Given the description of an element on the screen output the (x, y) to click on. 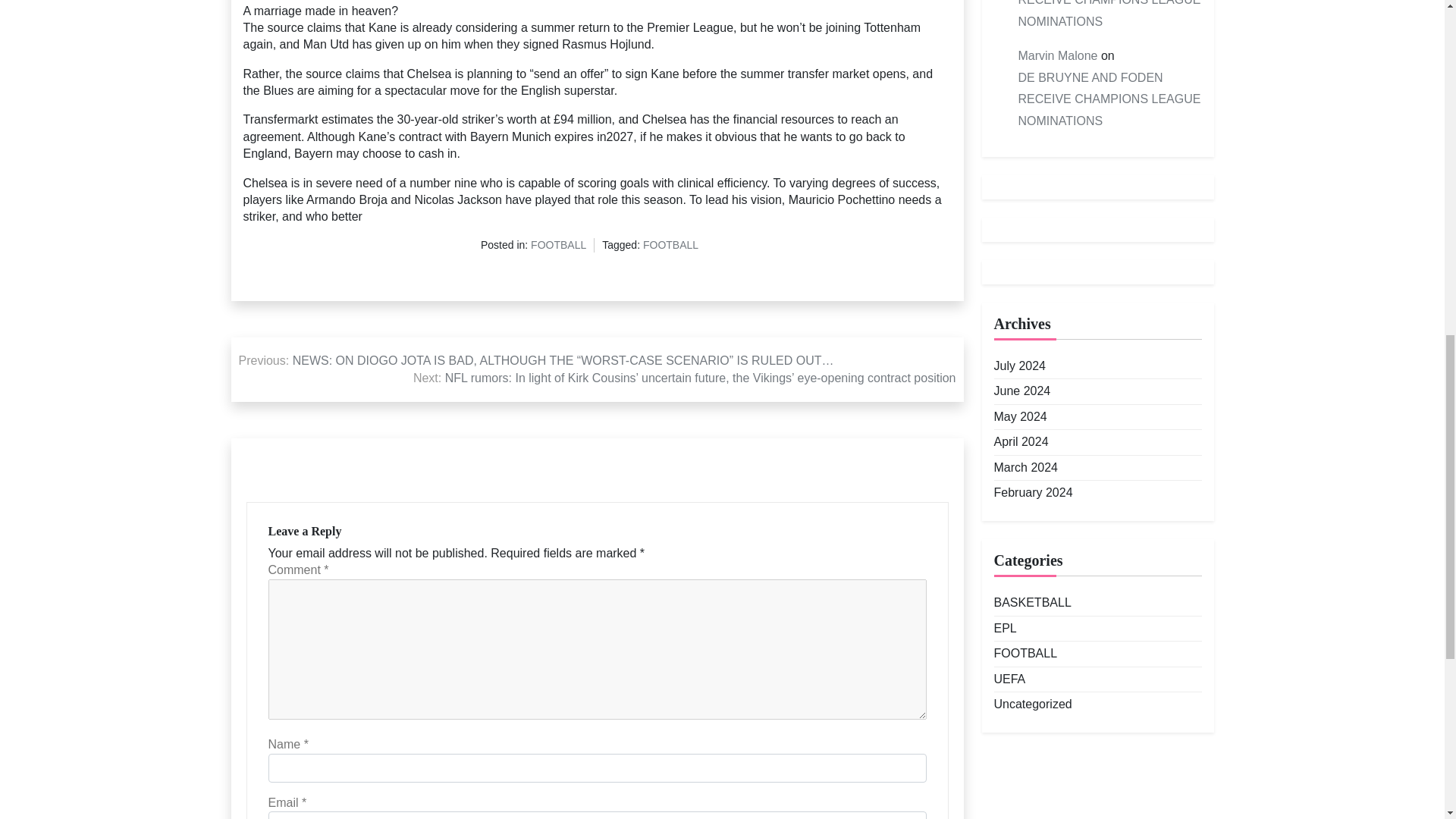
June 2024 (1020, 391)
April 2024 (1020, 442)
DE BRUYNE AND FODEN RECEIVE CHAMPIONS LEAGUE NOMINATIONS (1109, 99)
May 2024 (1019, 416)
FOOTBALL (670, 245)
March 2024 (1025, 467)
July 2024 (1018, 365)
February 2024 (1031, 492)
DE BRUYNE AND FODEN RECEIVE CHAMPIONS LEAGUE NOMINATIONS (1109, 16)
FOOTBALL (558, 245)
Marvin Malone (1057, 56)
